Given the description of an element on the screen output the (x, y) to click on. 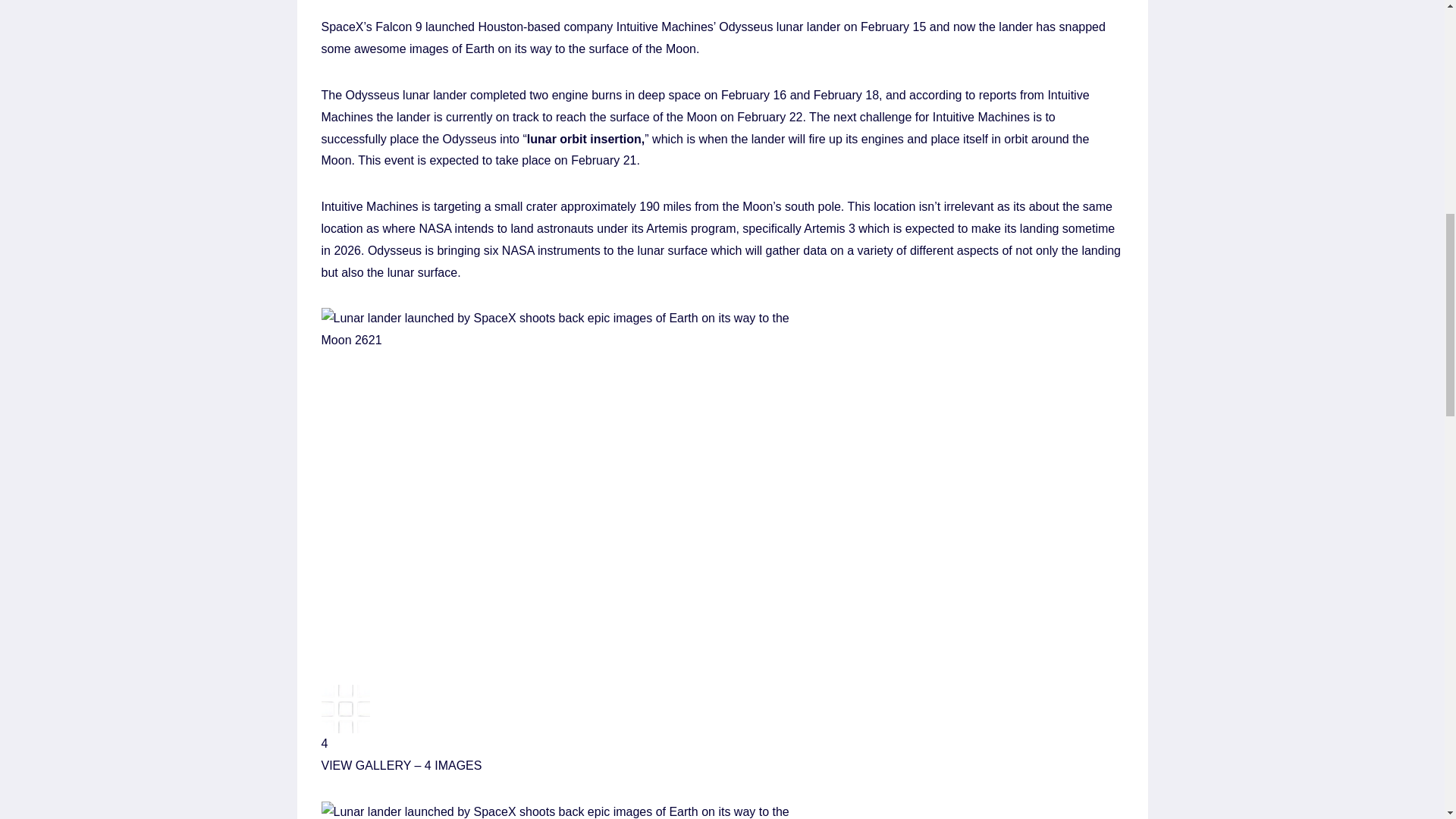
Open Gallery (722, 706)
